Given the description of an element on the screen output the (x, y) to click on. 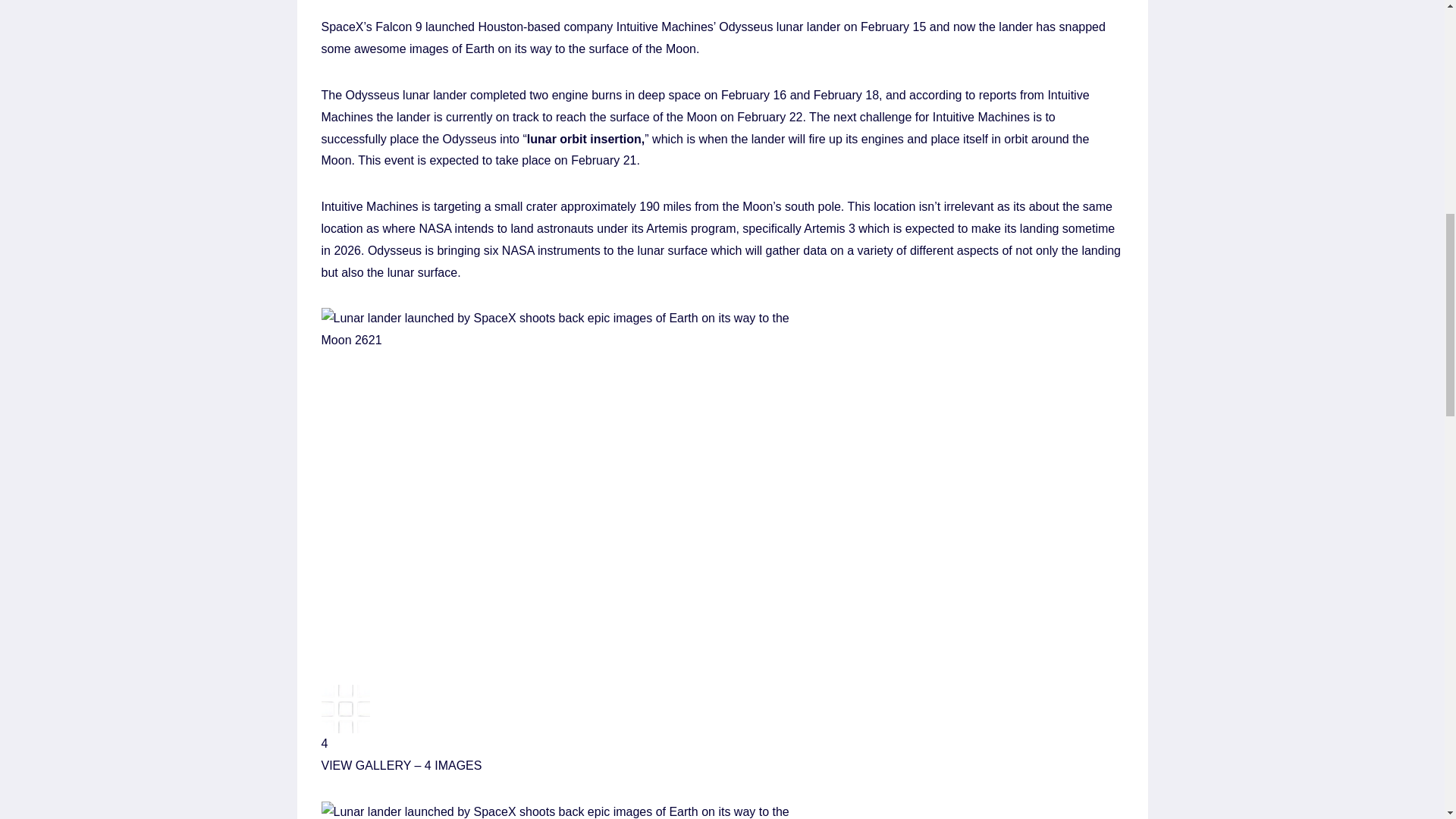
Open Gallery (722, 706)
